Given the description of an element on the screen output the (x, y) to click on. 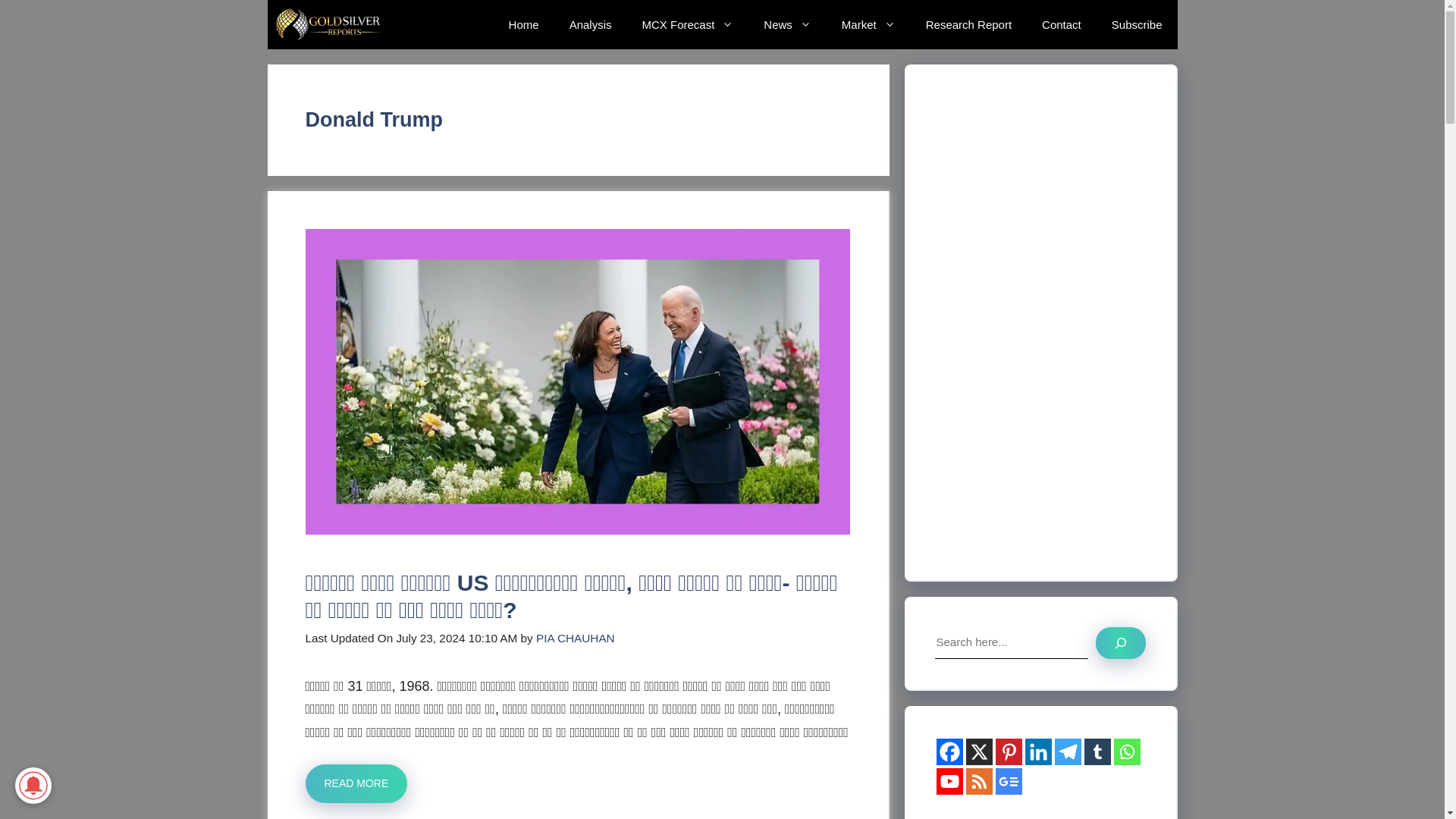
News (787, 24)
Gold Silver Reports (329, 24)
MCX Forecast (687, 24)
MCX Forecast (687, 24)
News (787, 24)
Home (523, 24)
Contact (1061, 24)
Analysis (590, 24)
Subscribe (1136, 24)
Analysis (590, 24)
Market (869, 24)
Home (523, 24)
Research Report (968, 24)
